Given the description of an element on the screen output the (x, y) to click on. 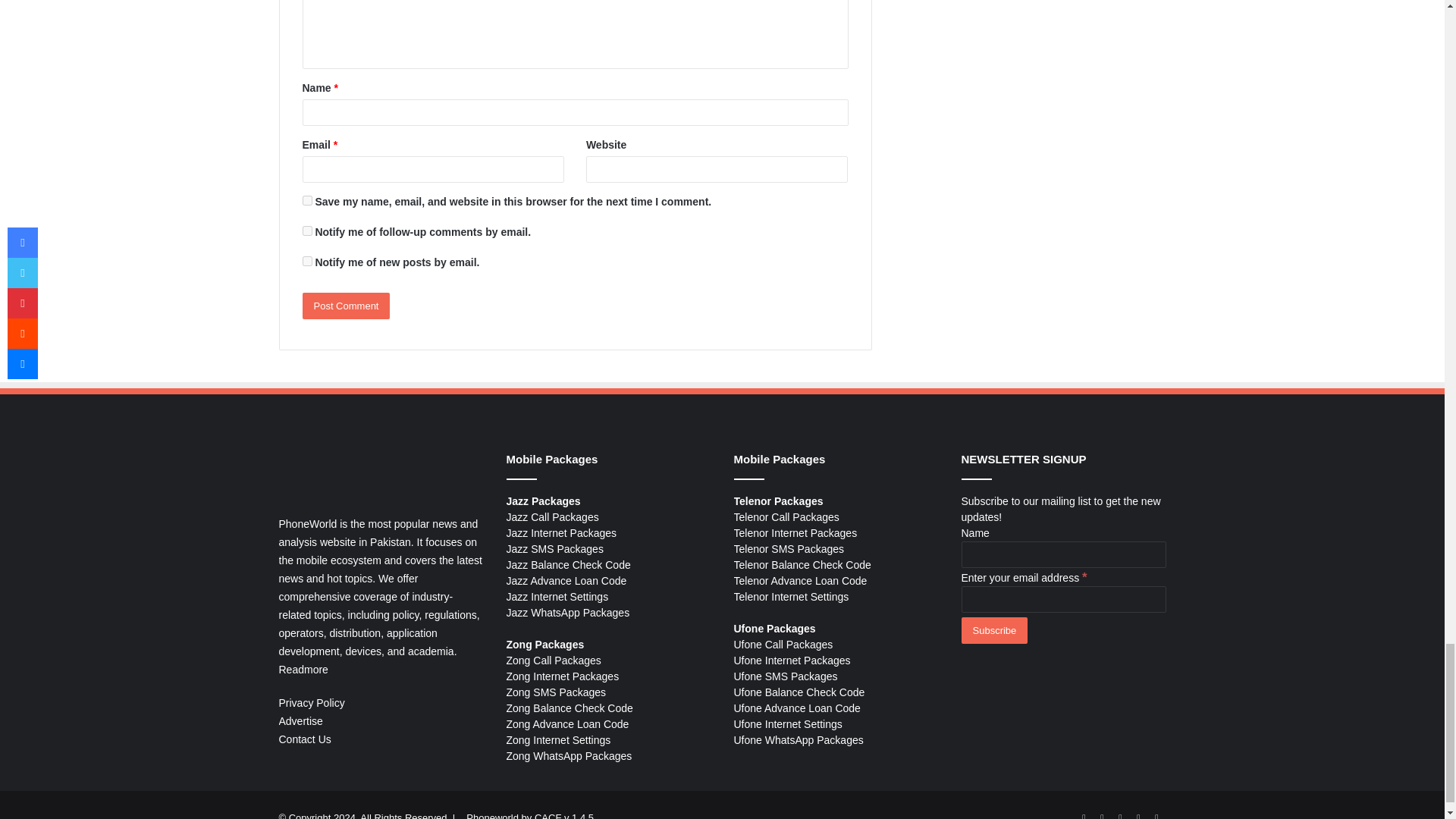
Post Comment (345, 305)
yes (306, 200)
Subscribe (993, 630)
subscribe (306, 261)
subscribe (306, 230)
